Given the description of an element on the screen output the (x, y) to click on. 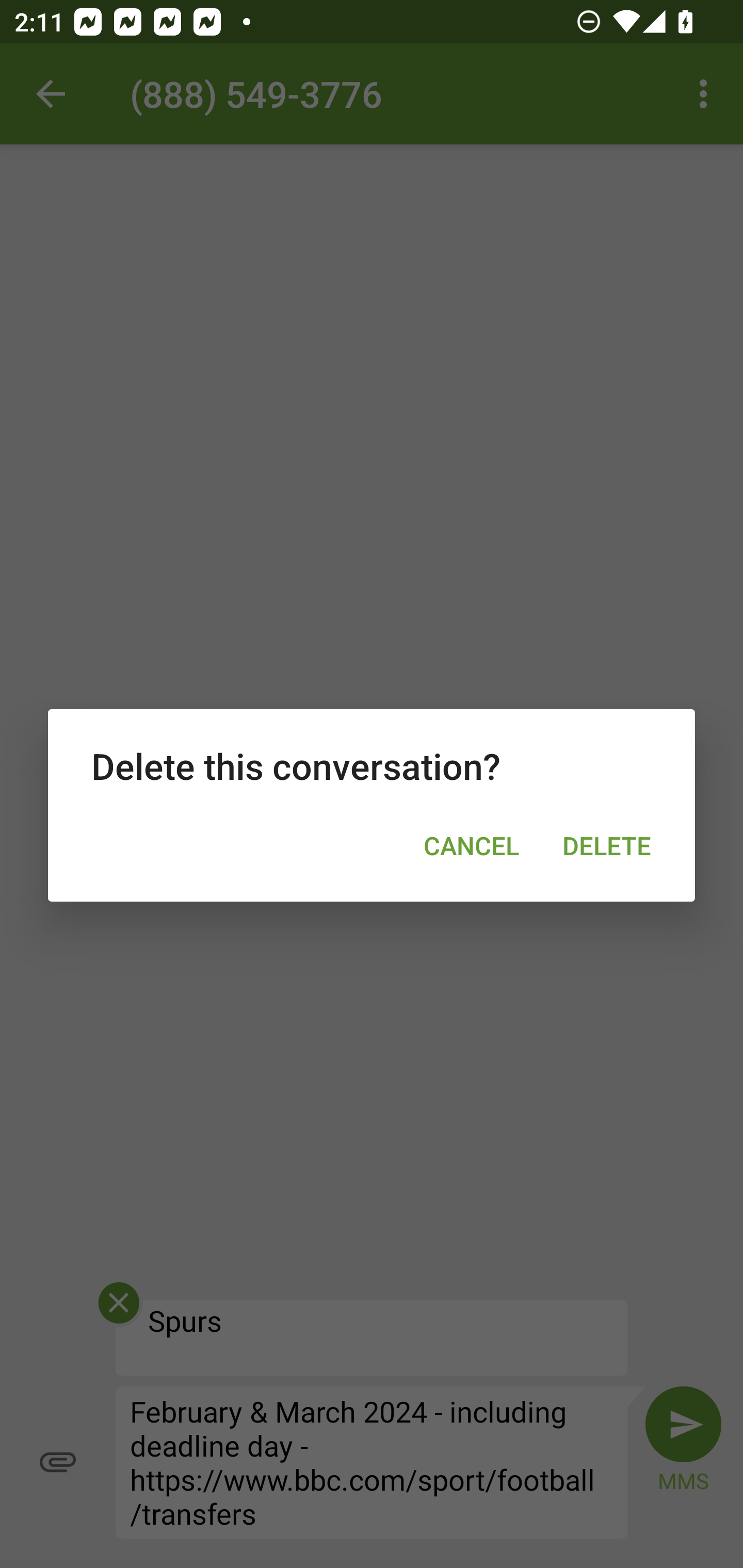
CANCEL (470, 844)
DELETE (606, 844)
